Given the description of an element on the screen output the (x, y) to click on. 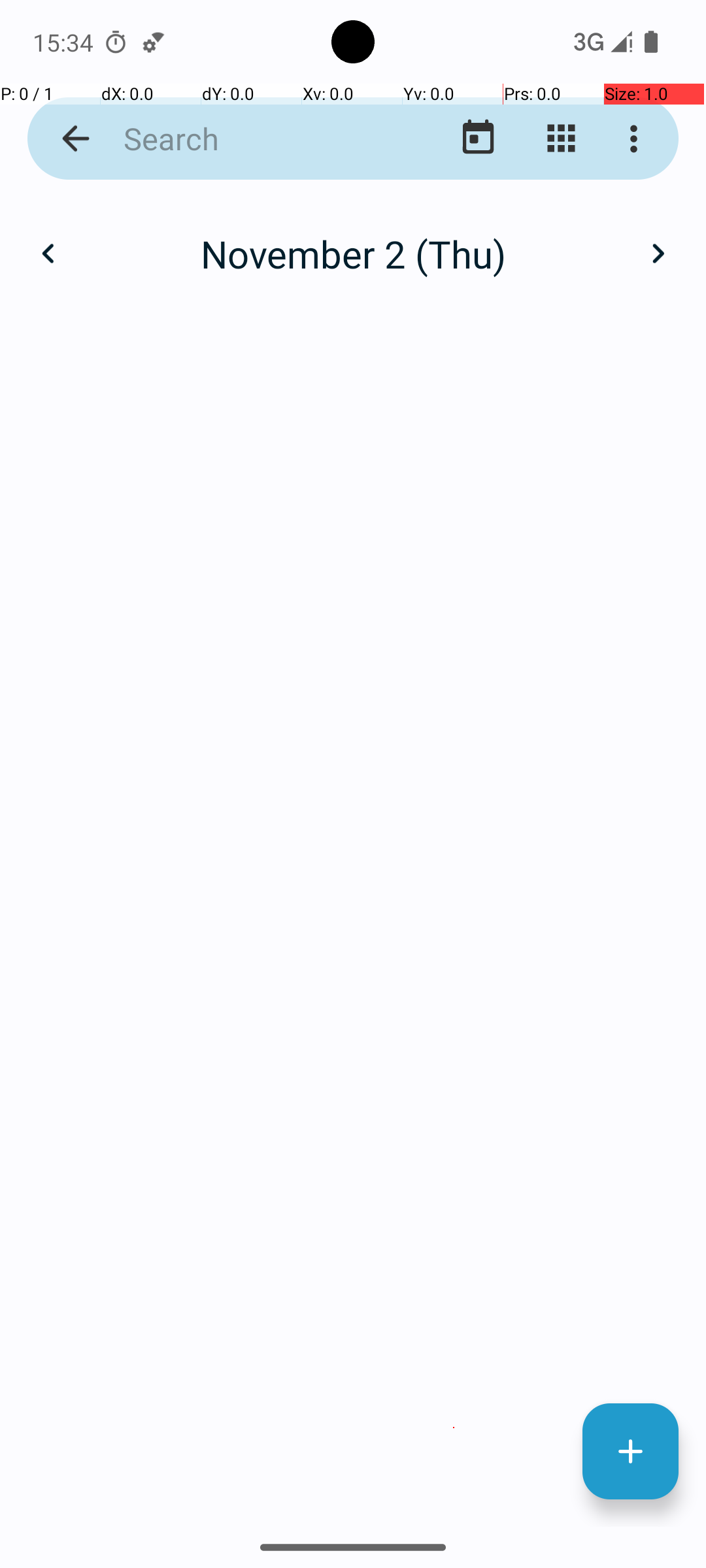
November 2 (Thu) Element type: android.widget.TextView (352, 253)
